Given the description of an element on the screen output the (x, y) to click on. 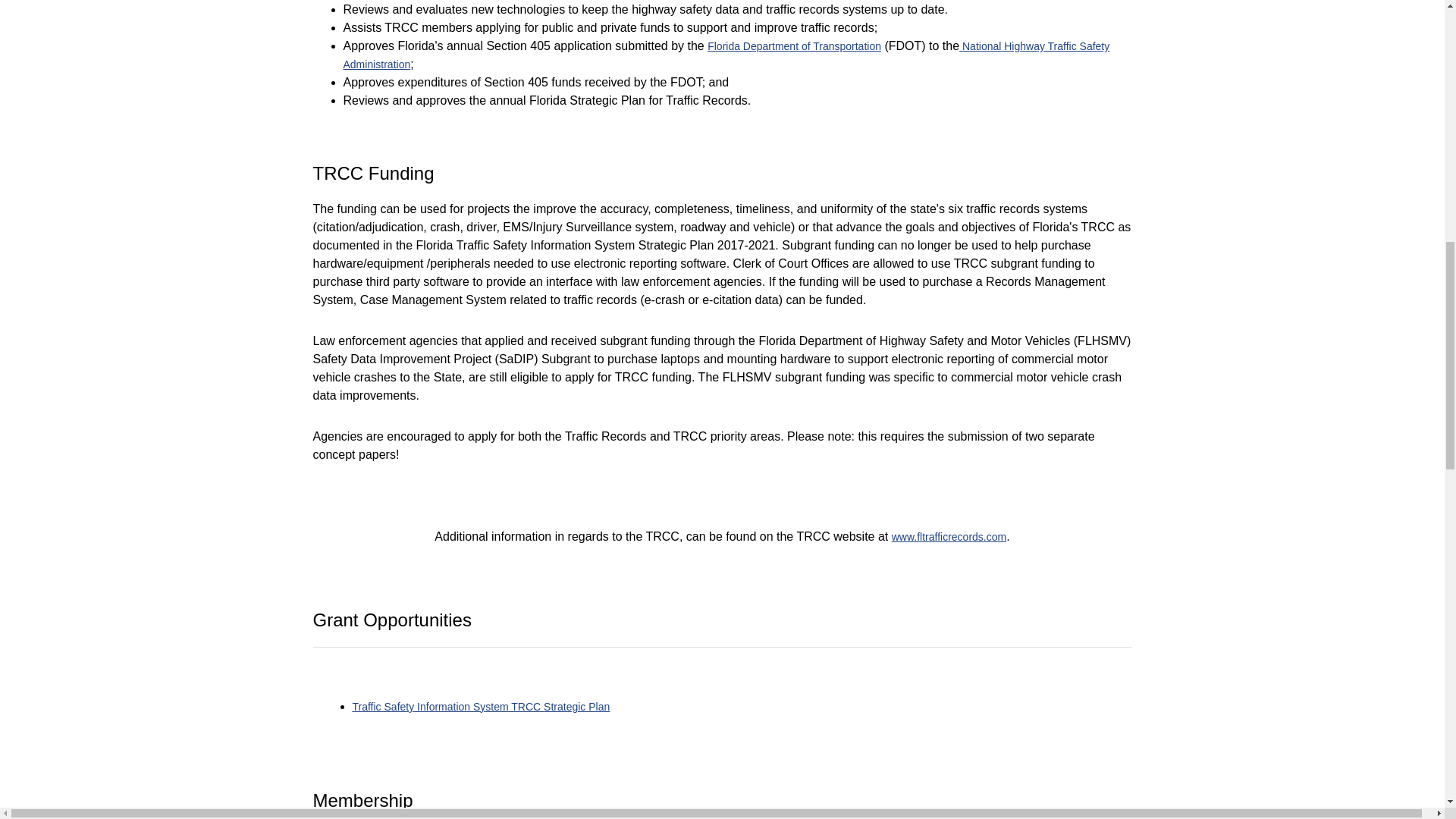
National Highway Traffic Safety Administration (725, 55)
Traffic Safety Information System TRCC Strategic Plan (481, 706)
www.fltrafficrecords.com (948, 536)
Florida Department of Transportation (793, 46)
